Given the description of an element on the screen output the (x, y) to click on. 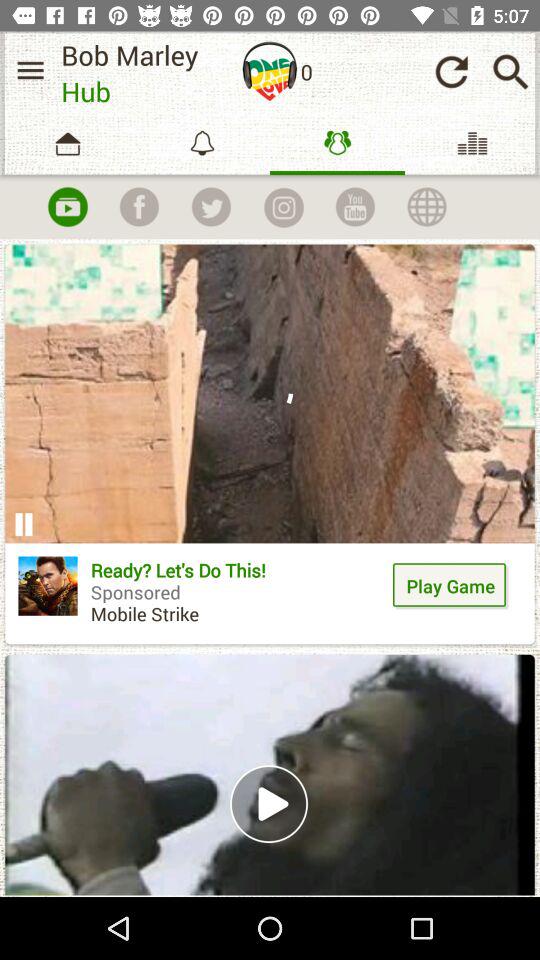
play (67, 207)
